Given the description of an element on the screen output the (x, y) to click on. 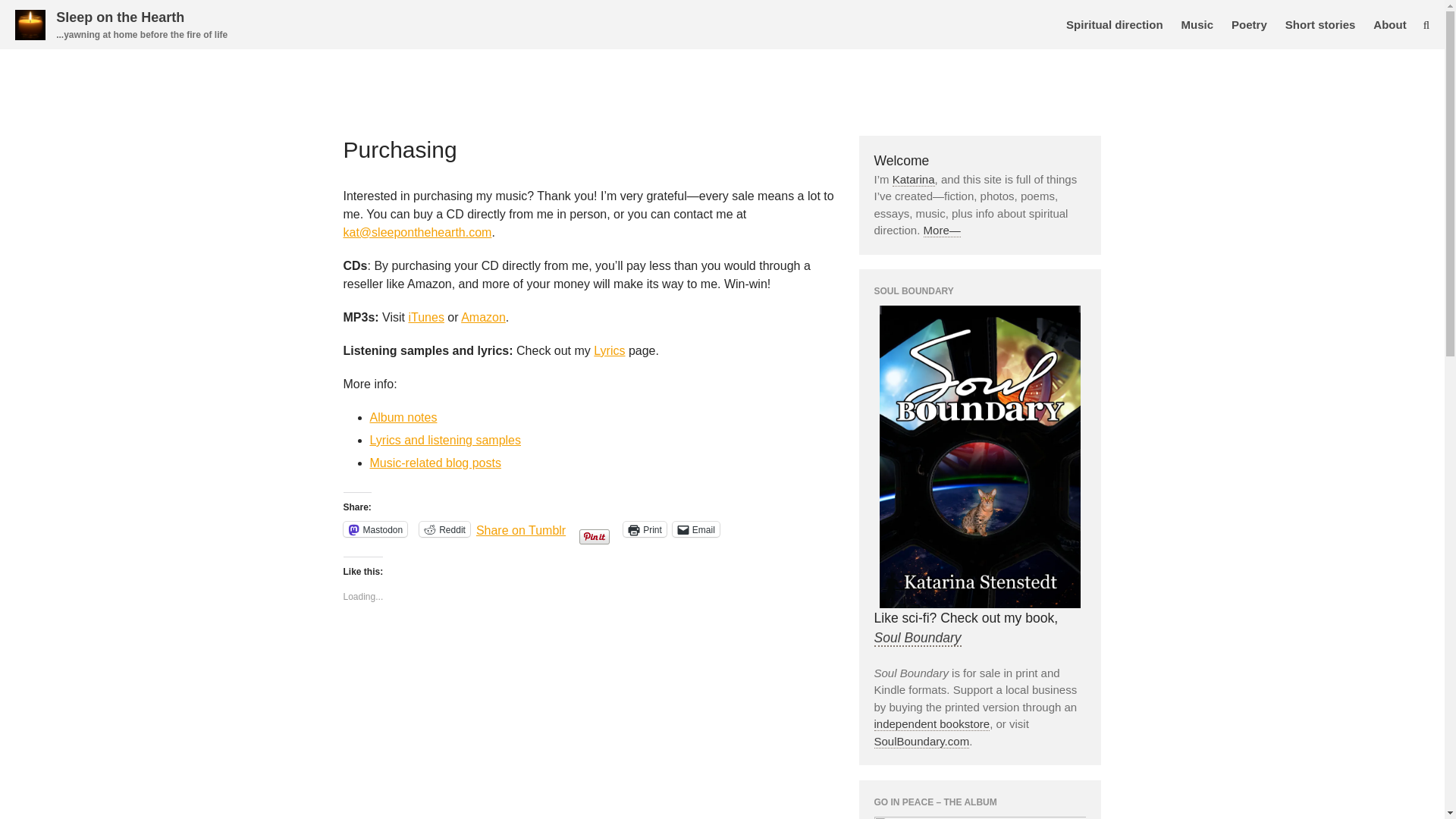
Sleep on the Hearth (120, 17)
Click to share on Mastodon (374, 529)
About (1389, 24)
Short stories (1320, 24)
Lyrics (609, 350)
iTunes (425, 317)
Click to share on Reddit (444, 529)
Click to print (644, 529)
Search (1356, 353)
Poetry (1249, 24)
